Given the description of an element on the screen output the (x, y) to click on. 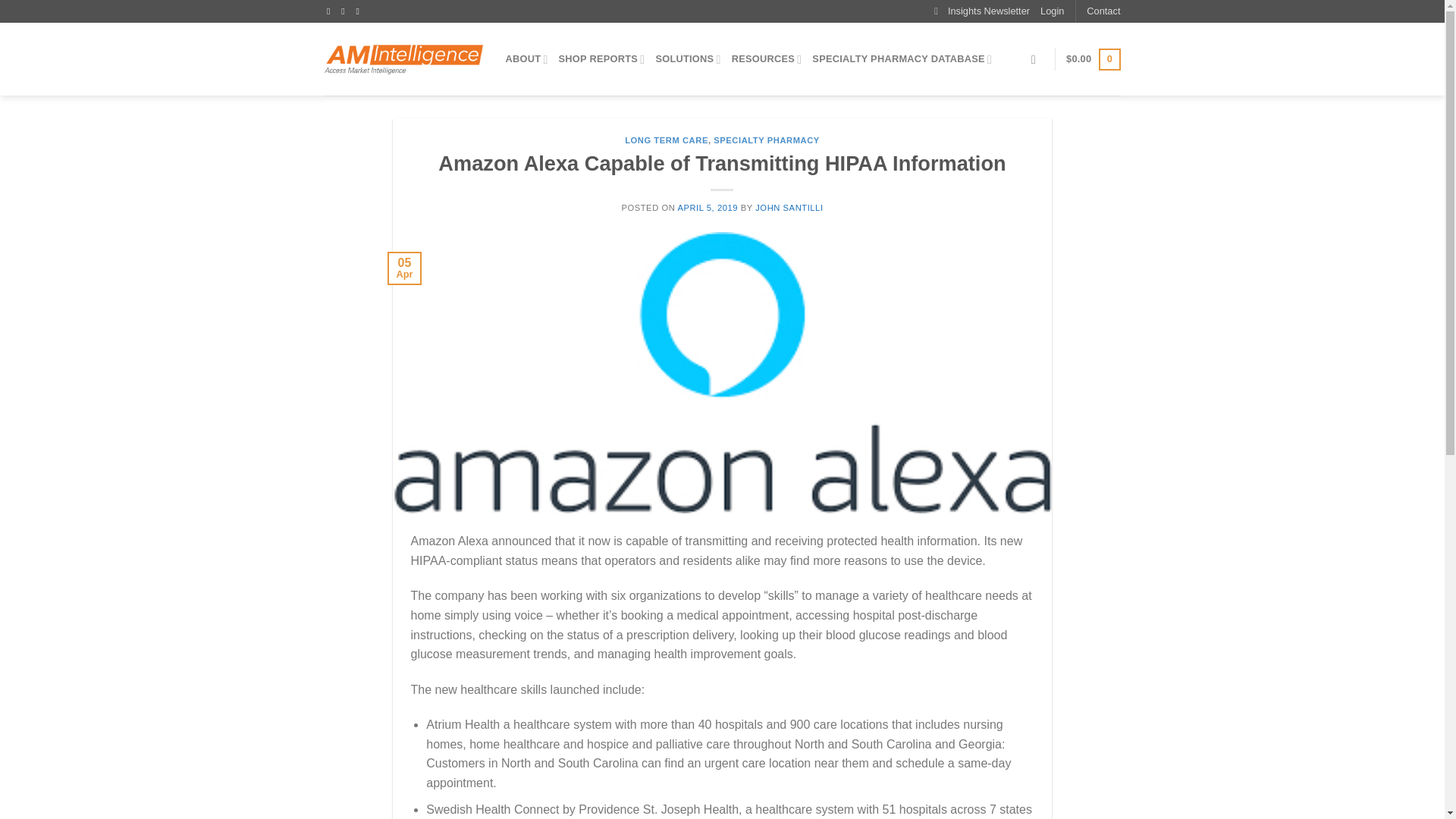
Subscribe  (981, 11)
Login (1052, 11)
Access Market Intelligence (403, 58)
SOLUTIONS (687, 59)
Cart (1092, 59)
RESOURCES (767, 59)
Contact (1102, 11)
Insights Newsletter (981, 11)
ABOUT (526, 59)
Login (1052, 11)
SHOP REPORTS (602, 59)
